Given the description of an element on the screen output the (x, y) to click on. 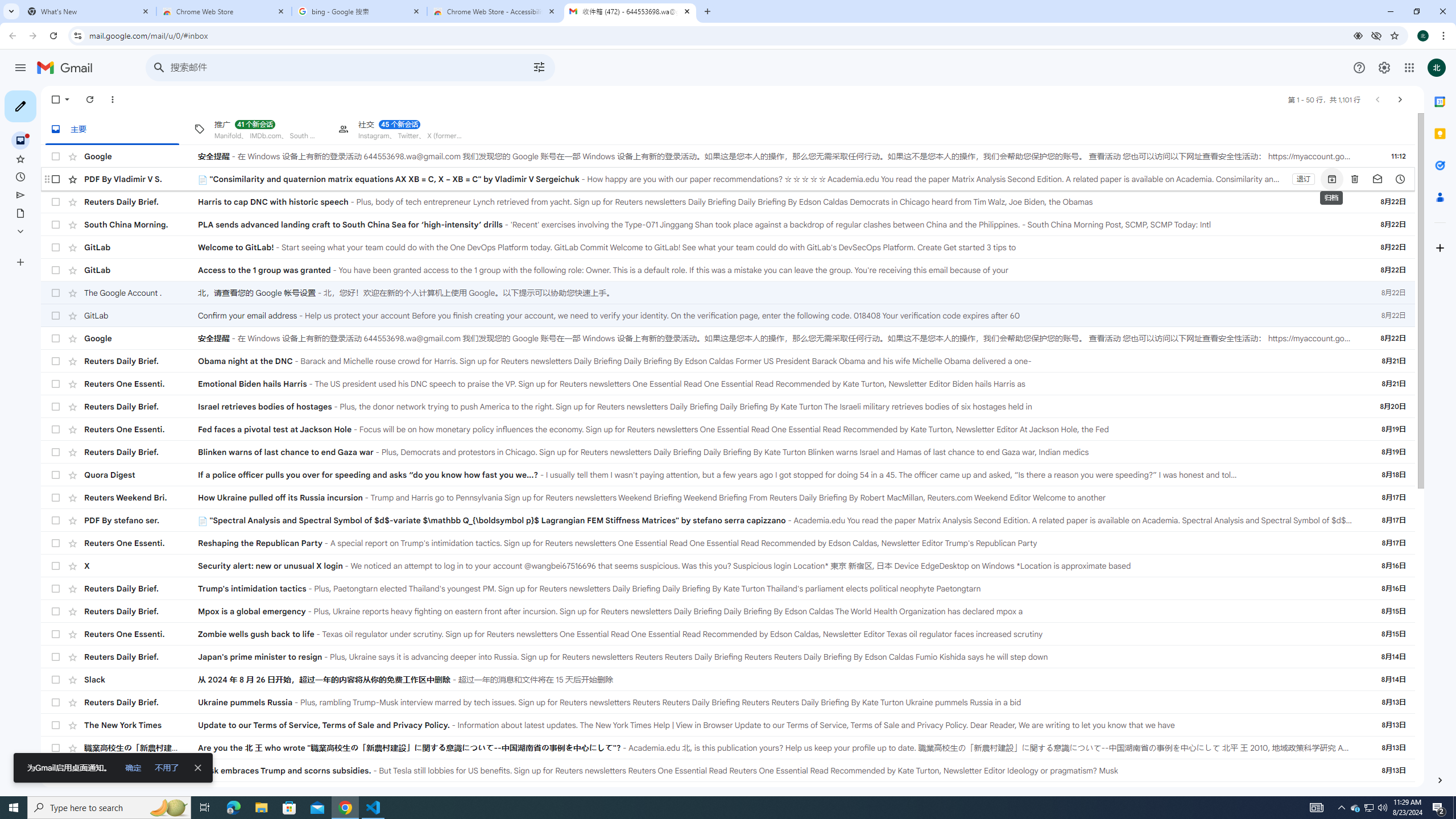
X (141, 565)
Keep (1439, 133)
